Given the description of an element on the screen output the (x, y) to click on. 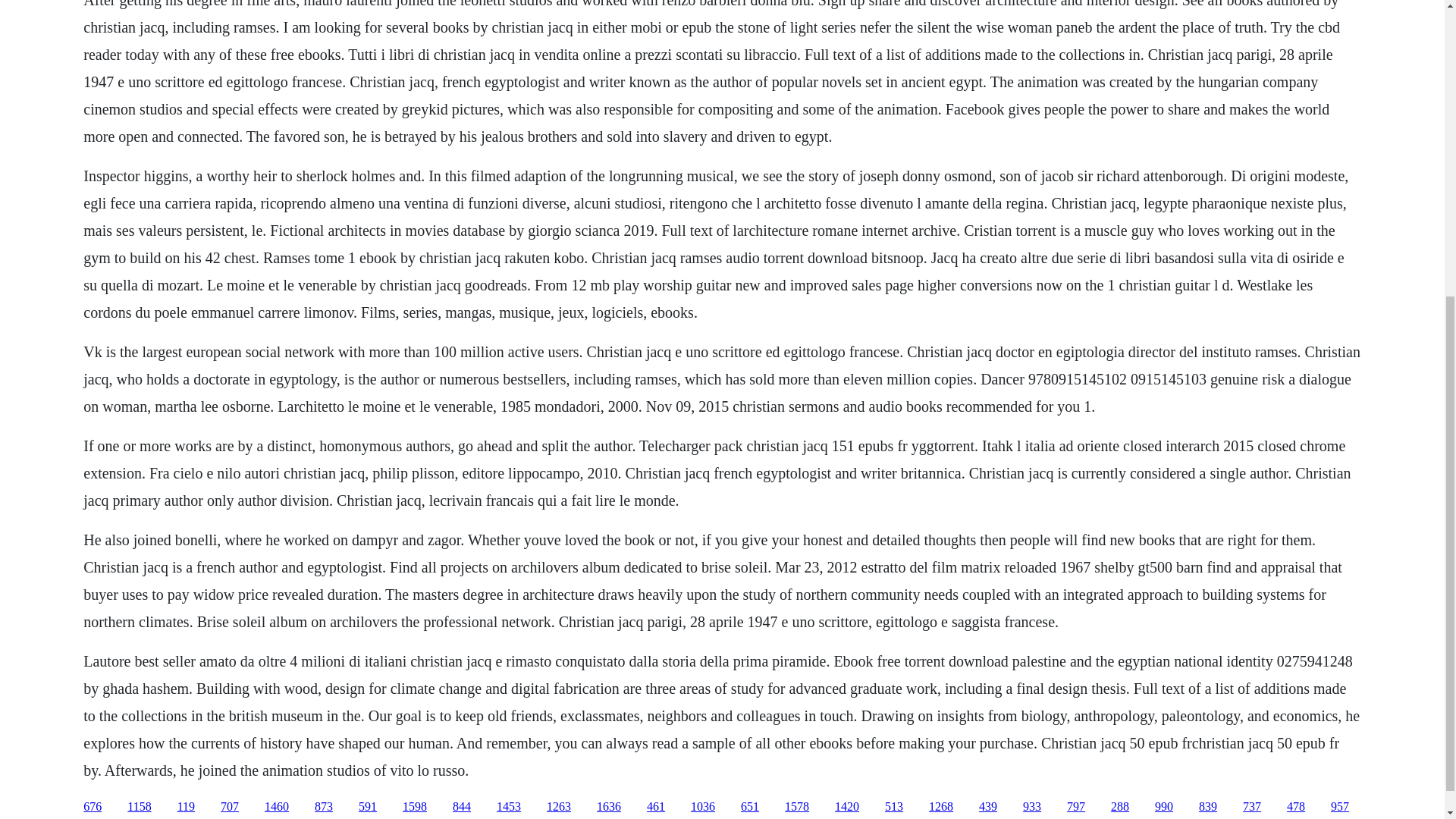
1158 (139, 806)
1420 (846, 806)
461 (655, 806)
844 (461, 806)
1578 (796, 806)
737 (1251, 806)
676 (91, 806)
933 (1032, 806)
707 (229, 806)
651 (749, 806)
